Given the description of an element on the screen output the (x, y) to click on. 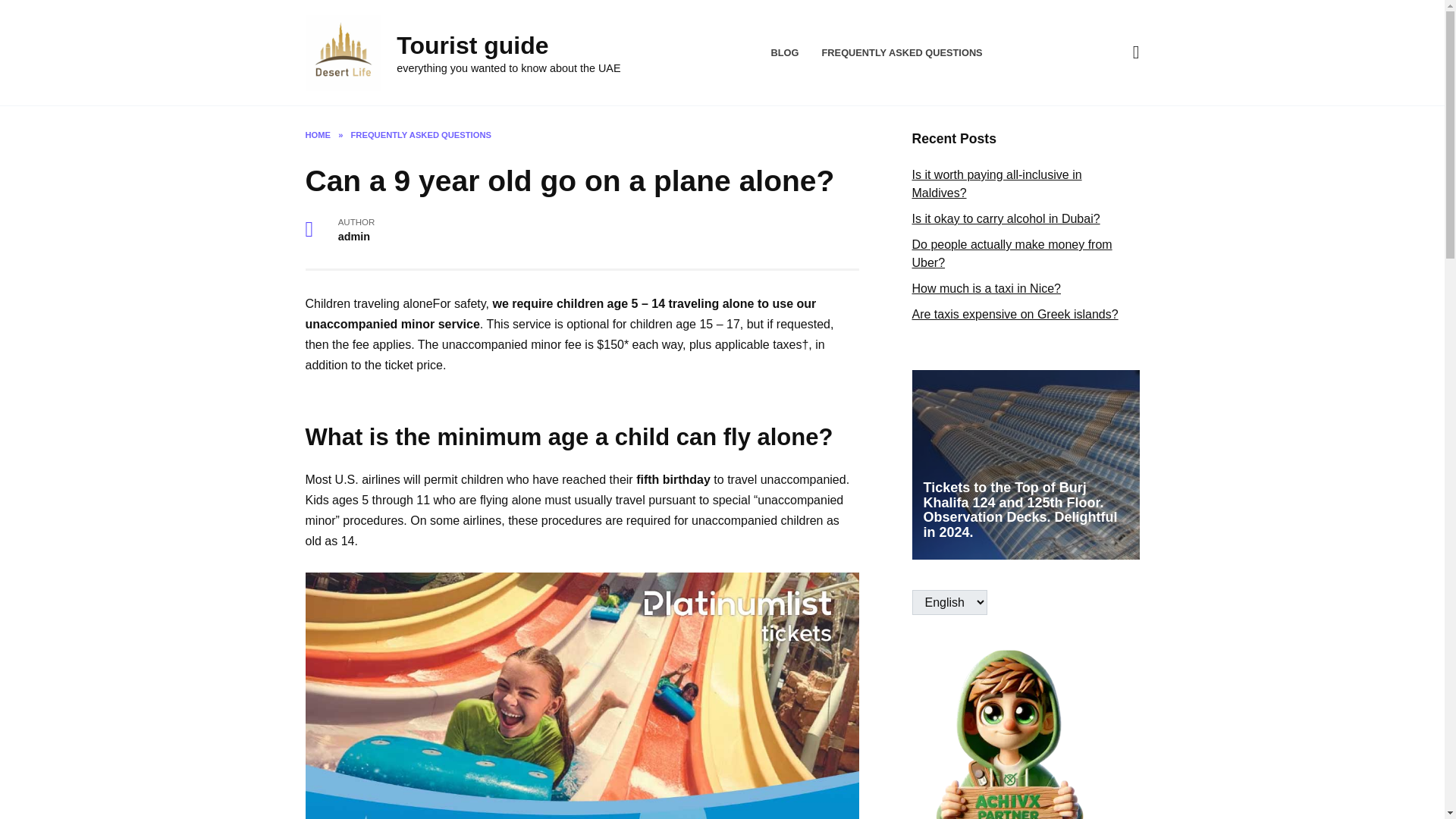
BLOG (785, 52)
FREQUENTLY ASKED QUESTIONS (421, 134)
Tourist guide (472, 44)
Do people actually make money from Uber? (1011, 253)
Are taxis expensive on Greek islands? (1014, 314)
FREQUENTLY ASKED QUESTIONS (902, 52)
How much is a taxi in Nice? (986, 287)
Is it okay to carry alcohol in Dubai? (1005, 218)
Is it worth paying all-inclusive in Maldives? (996, 183)
HOME (317, 134)
